Given the description of an element on the screen output the (x, y) to click on. 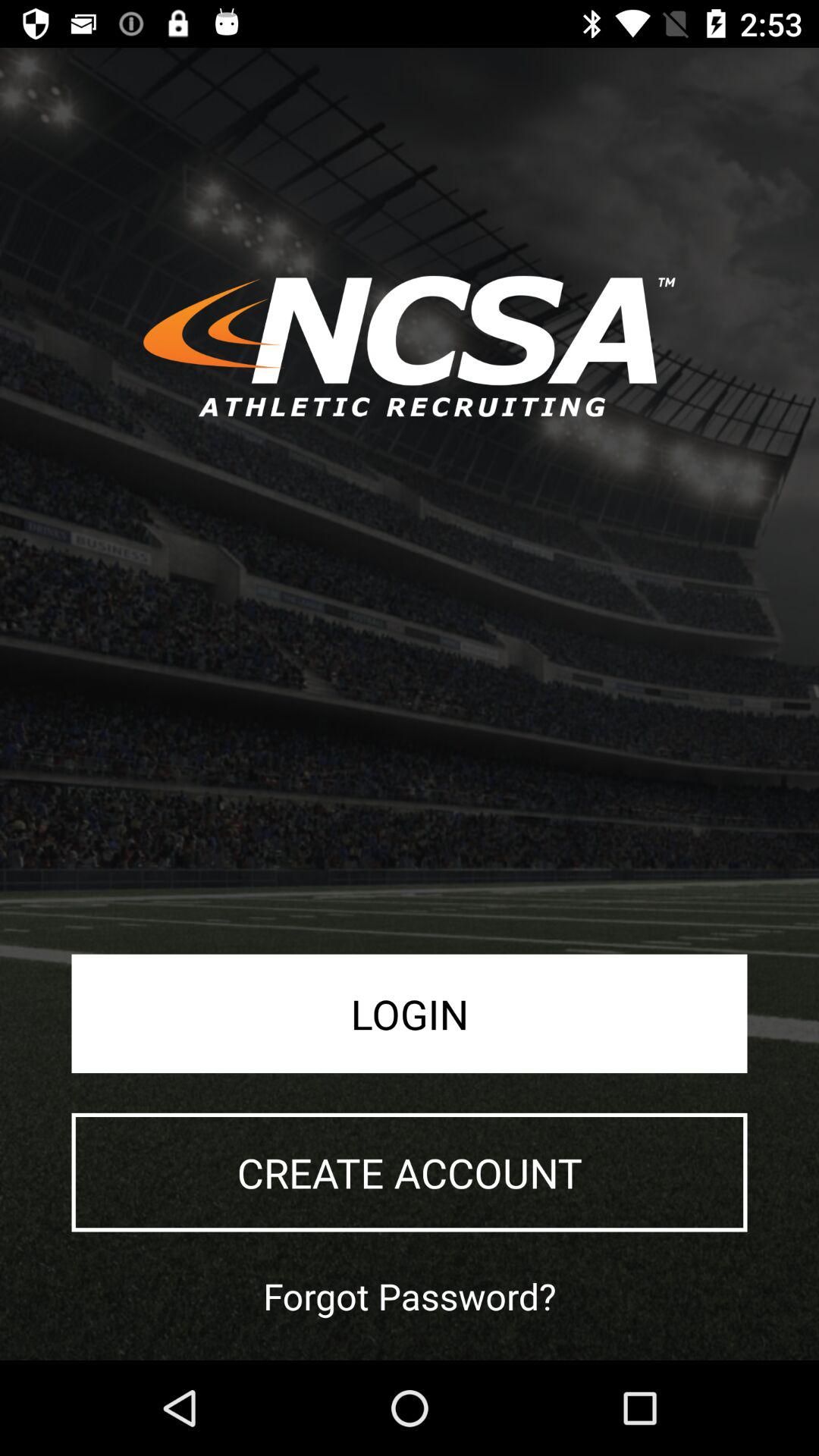
select the forgot password? (409, 1295)
